Given the description of an element on the screen output the (x, y) to click on. 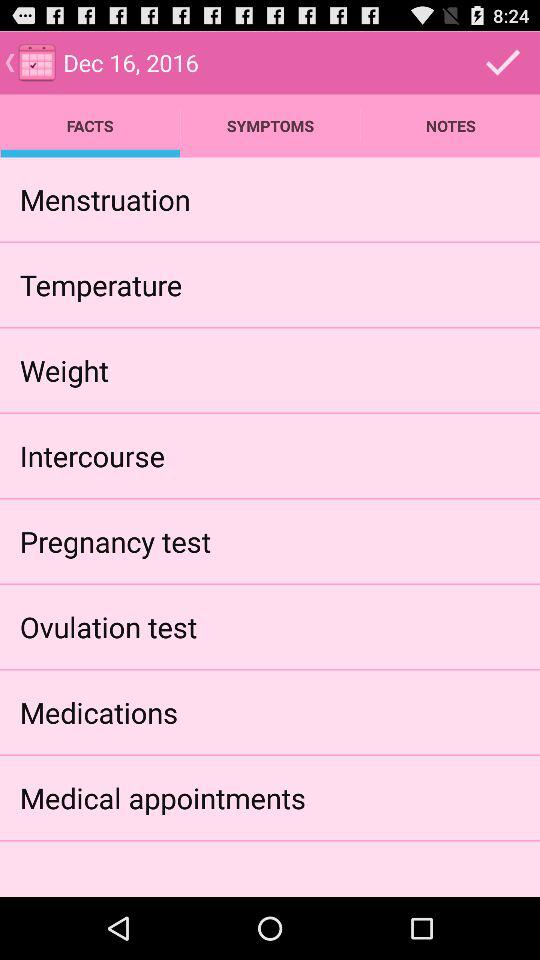
press pregnancy test app (115, 540)
